Given the description of an element on the screen output the (x, y) to click on. 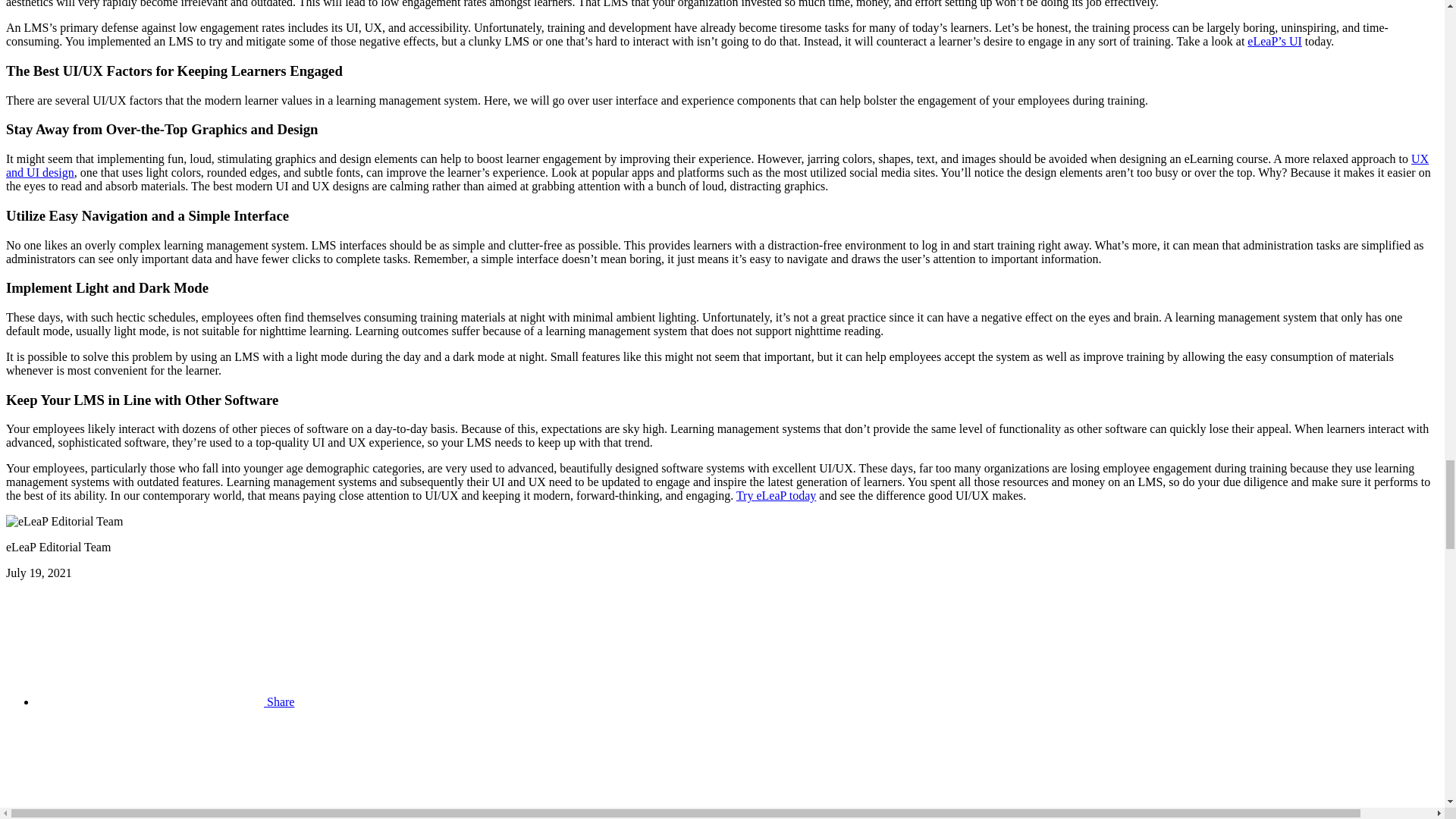
Try eLeaP today (775, 495)
UX and UI design (716, 165)
Share (165, 701)
Tweet (166, 815)
